Given the description of an element on the screen output the (x, y) to click on. 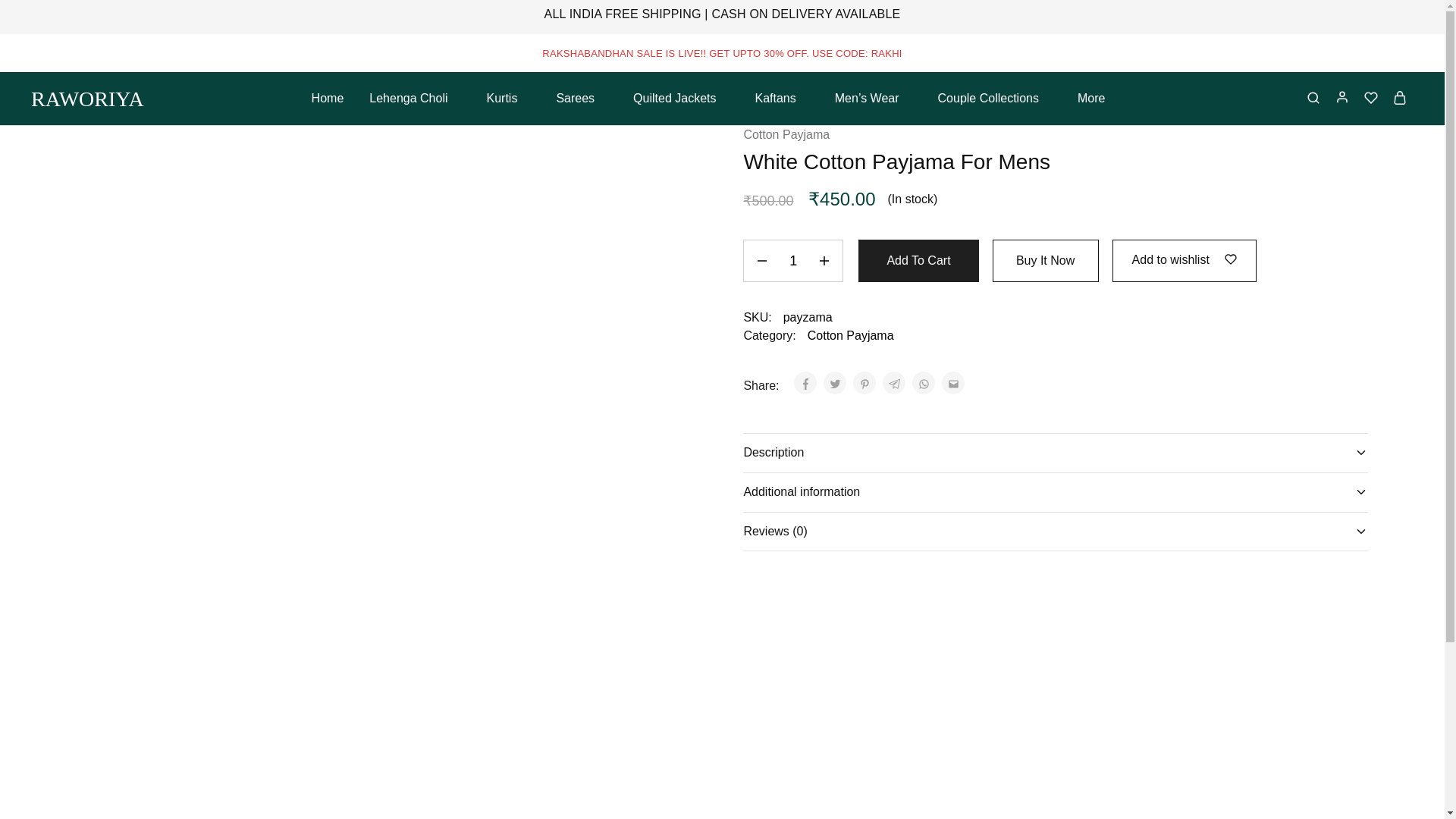
Sarees (581, 98)
Home (327, 98)
Lehenga Choli (414, 98)
Kurtis (507, 98)
Quilted Jackets (680, 98)
RAWORIYA (87, 98)
